Given the description of an element on the screen output the (x, y) to click on. 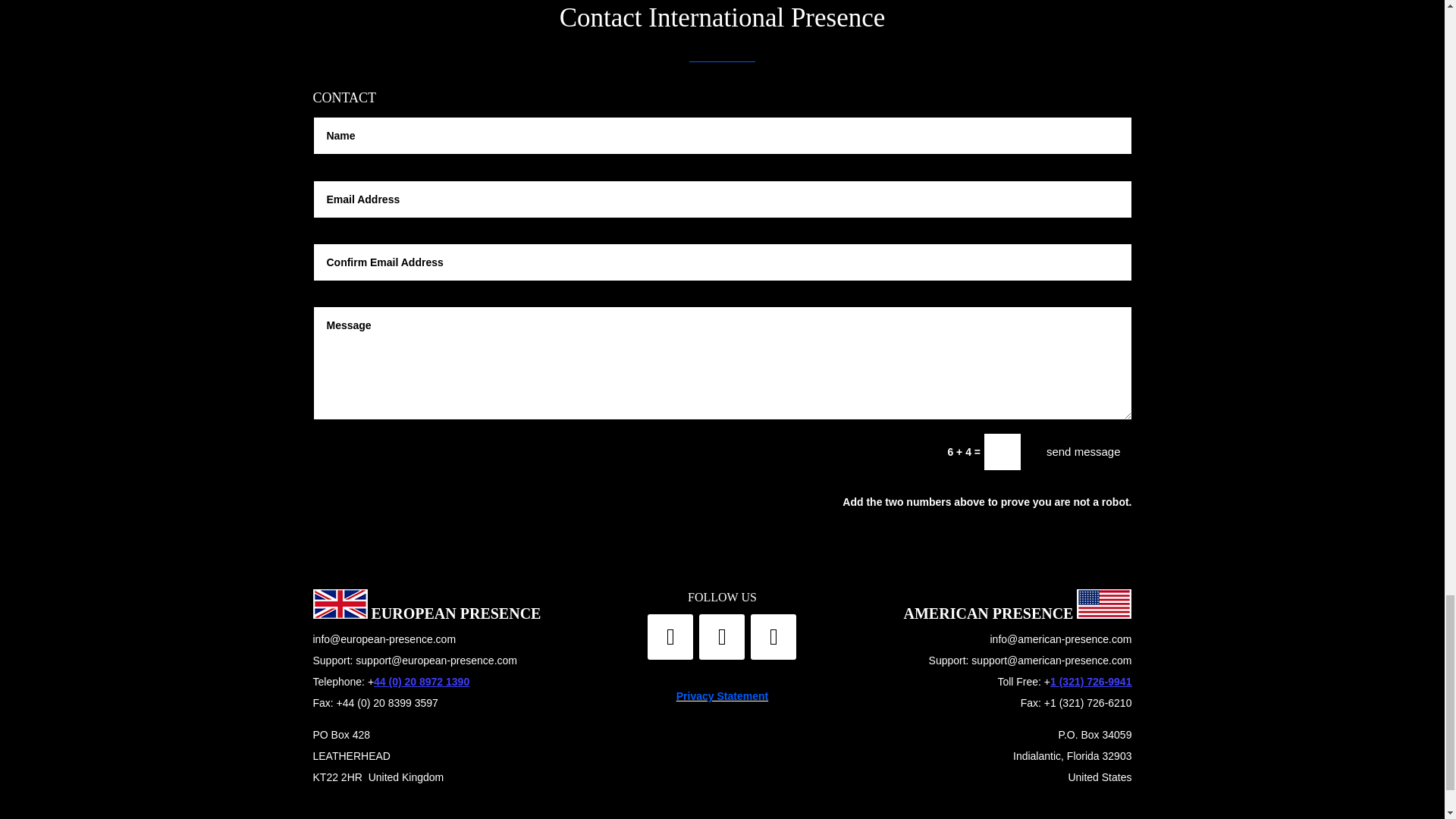
send message (1083, 451)
Privacy Statement (722, 695)
